Given the description of an element on the screen output the (x, y) to click on. 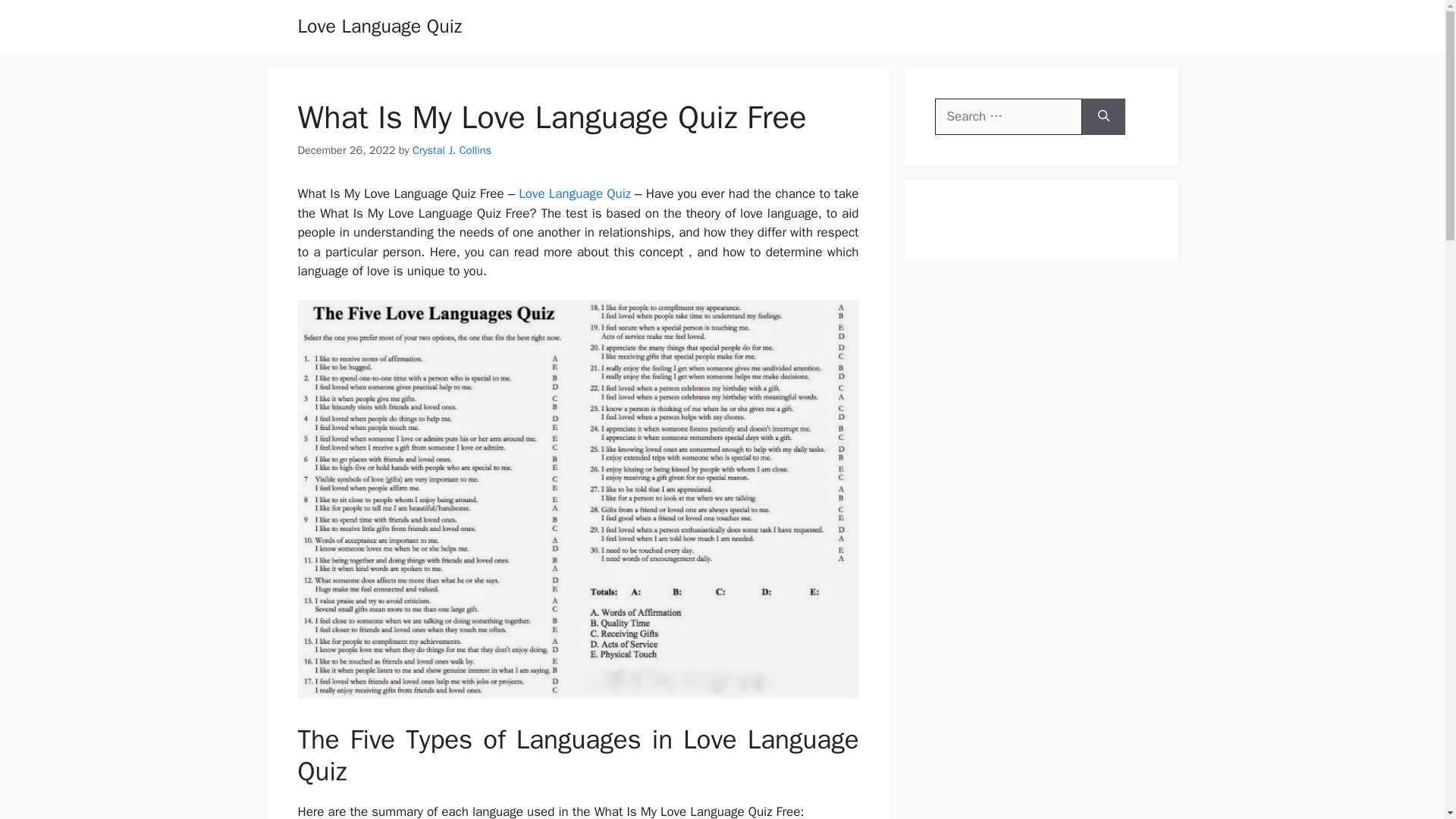
Love Language Quiz (379, 25)
Search for: (1007, 116)
Crystal J. Collins (452, 150)
Love Language Quiz (574, 193)
View all posts by Crystal J. Collins (452, 150)
